Given the description of an element on the screen output the (x, y) to click on. 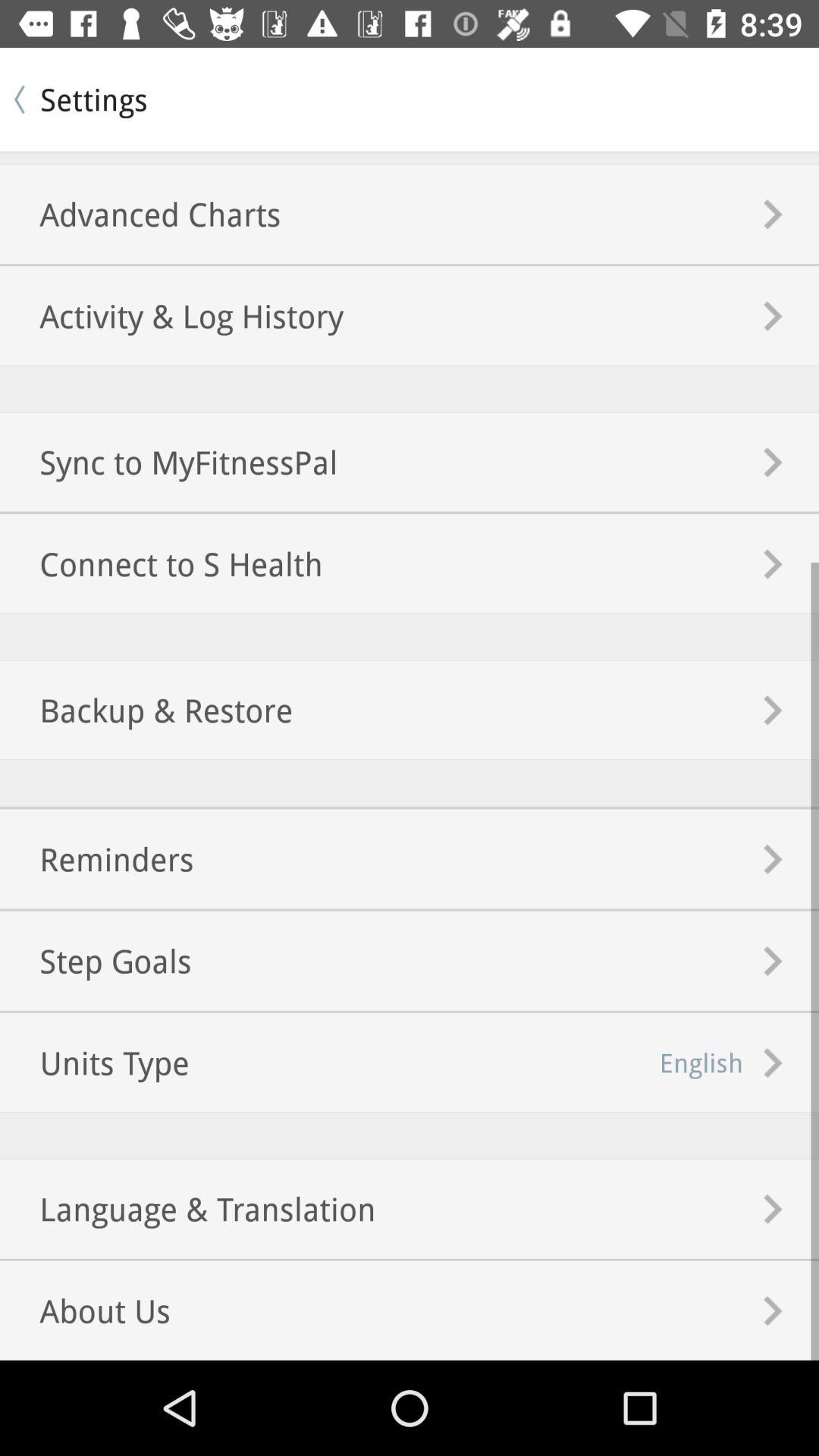
select the step goals icon (95, 960)
